Given the description of an element on the screen output the (x, y) to click on. 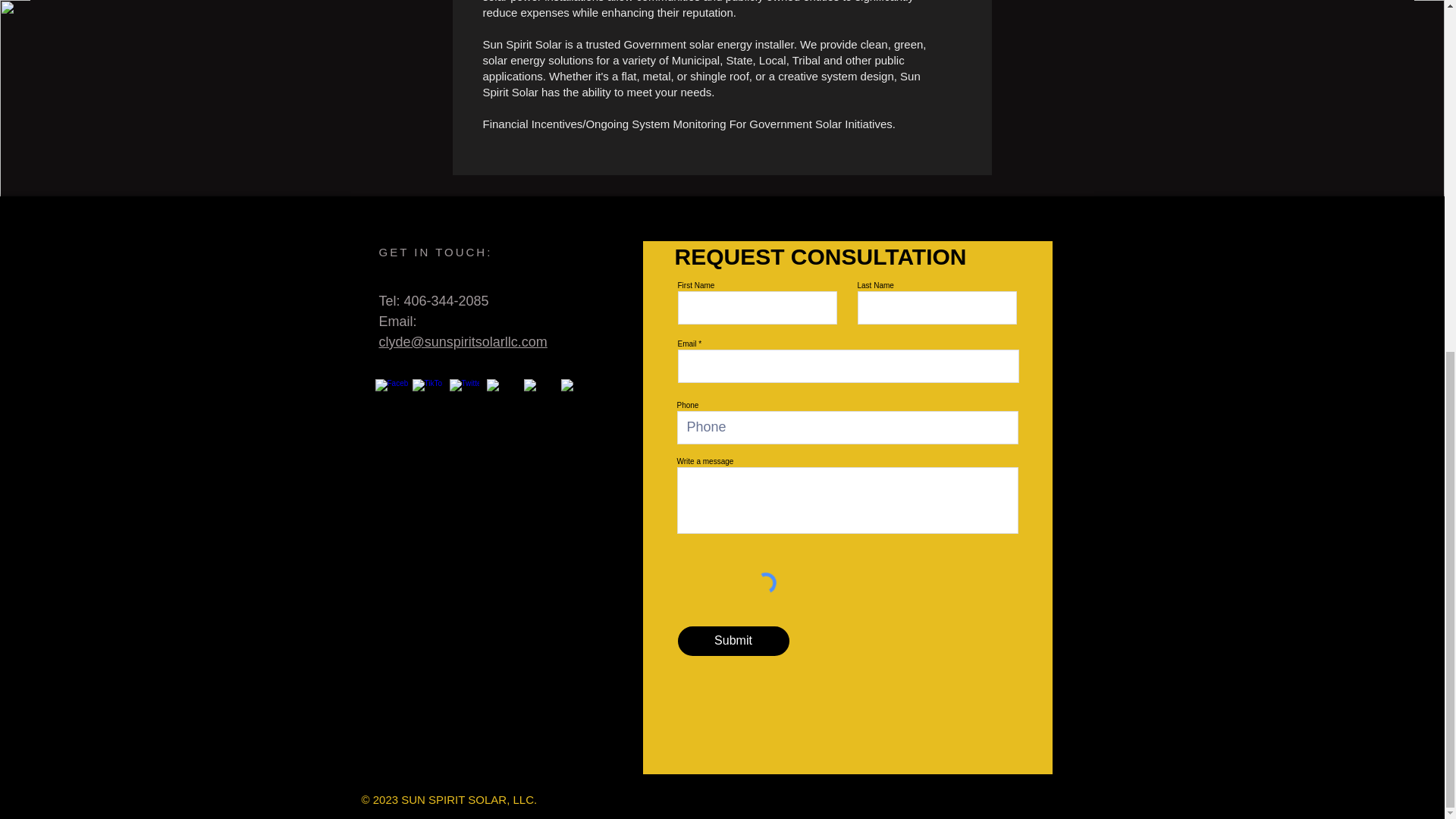
Submit (733, 641)
